Given the description of an element on the screen output the (x, y) to click on. 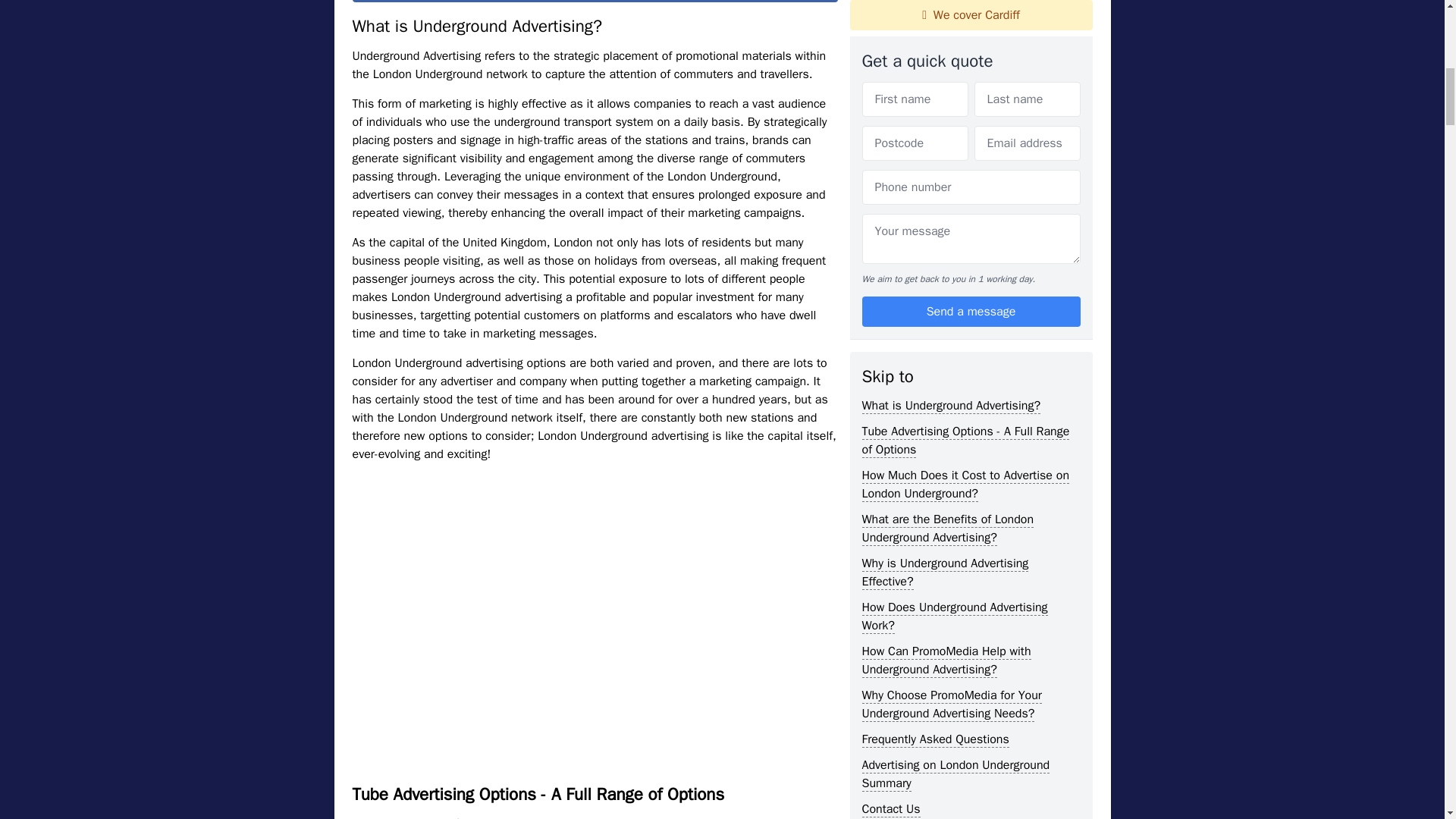
Why is Underground Advertising Effective? (944, 142)
Advertising on London Underground Summary (955, 344)
How Much Does it Cost to Advertise on London Underground? (964, 54)
Frequently Asked Questions (935, 309)
Contact Us (890, 379)
Tube Advertising Options - A Full Range of Options (964, 13)
How Does Underground Advertising Work? (953, 186)
How Can PromoMedia Help with Underground Advertising? (945, 230)
What are the Benefits of London Underground Advertising? (947, 98)
